Given the description of an element on the screen output the (x, y) to click on. 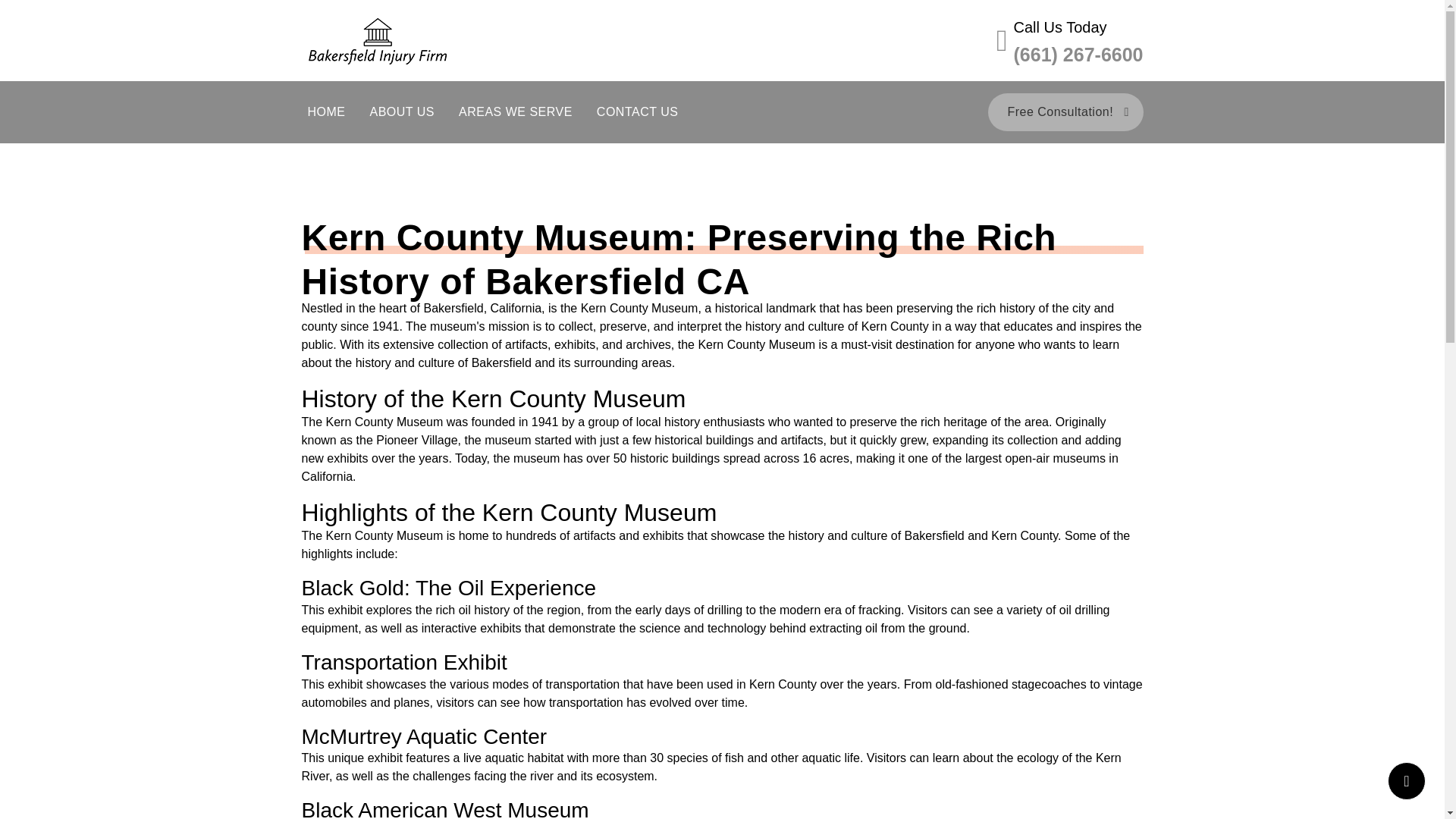
ABOUT US (402, 112)
Free Consultation! (1065, 112)
HOME (326, 112)
AREAS WE SERVE (515, 112)
CONTACT US (637, 112)
